Given the description of an element on the screen output the (x, y) to click on. 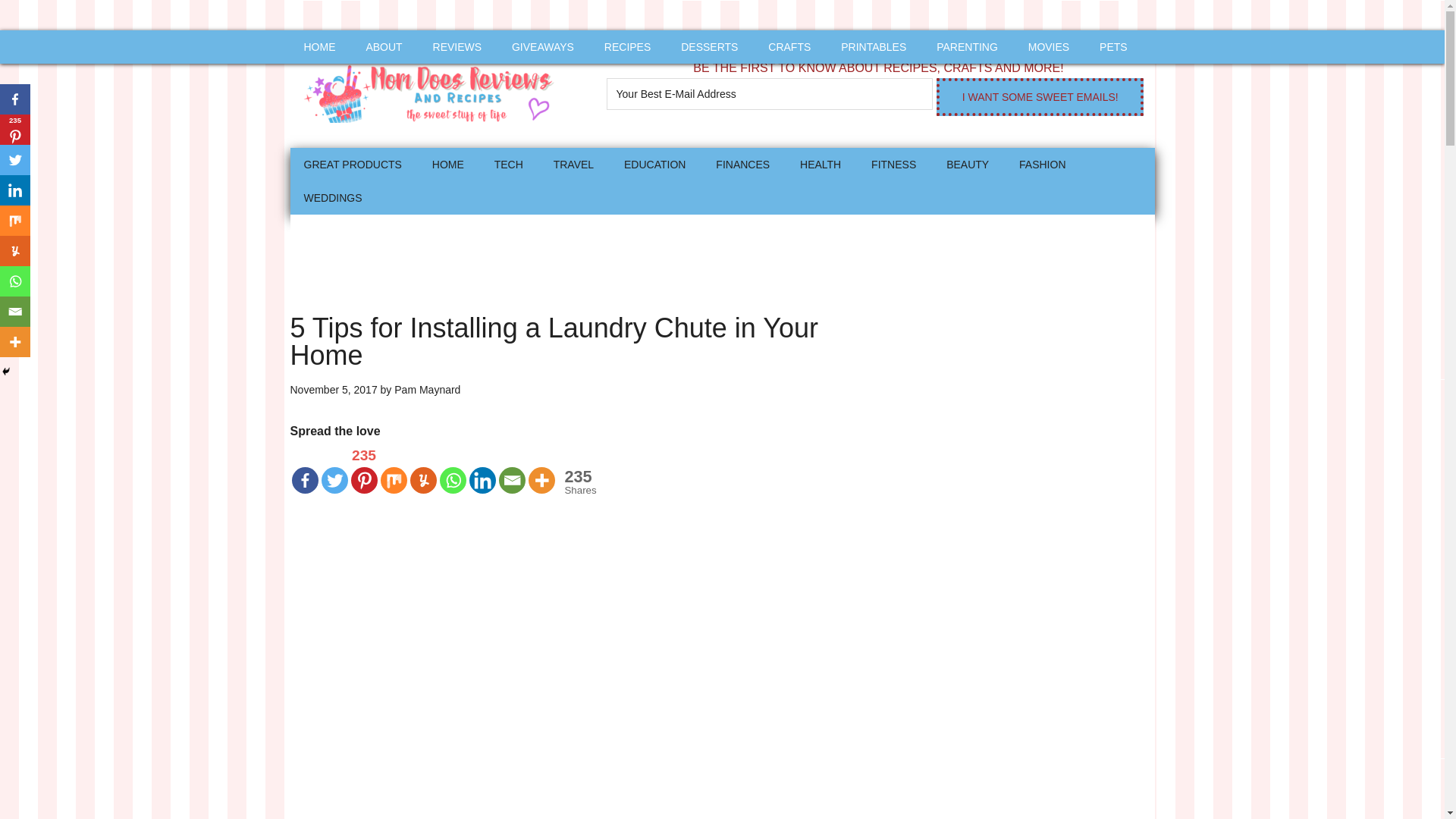
FINANCES (742, 164)
review (457, 46)
Home (448, 164)
PRINTABLES (873, 46)
CRAFTS (789, 46)
DESSERTS (708, 46)
Total Shares (577, 481)
EDUCATION (654, 164)
GIVEAWAYS (542, 46)
REVIEWS (457, 46)
